Given the description of an element on the screen output the (x, y) to click on. 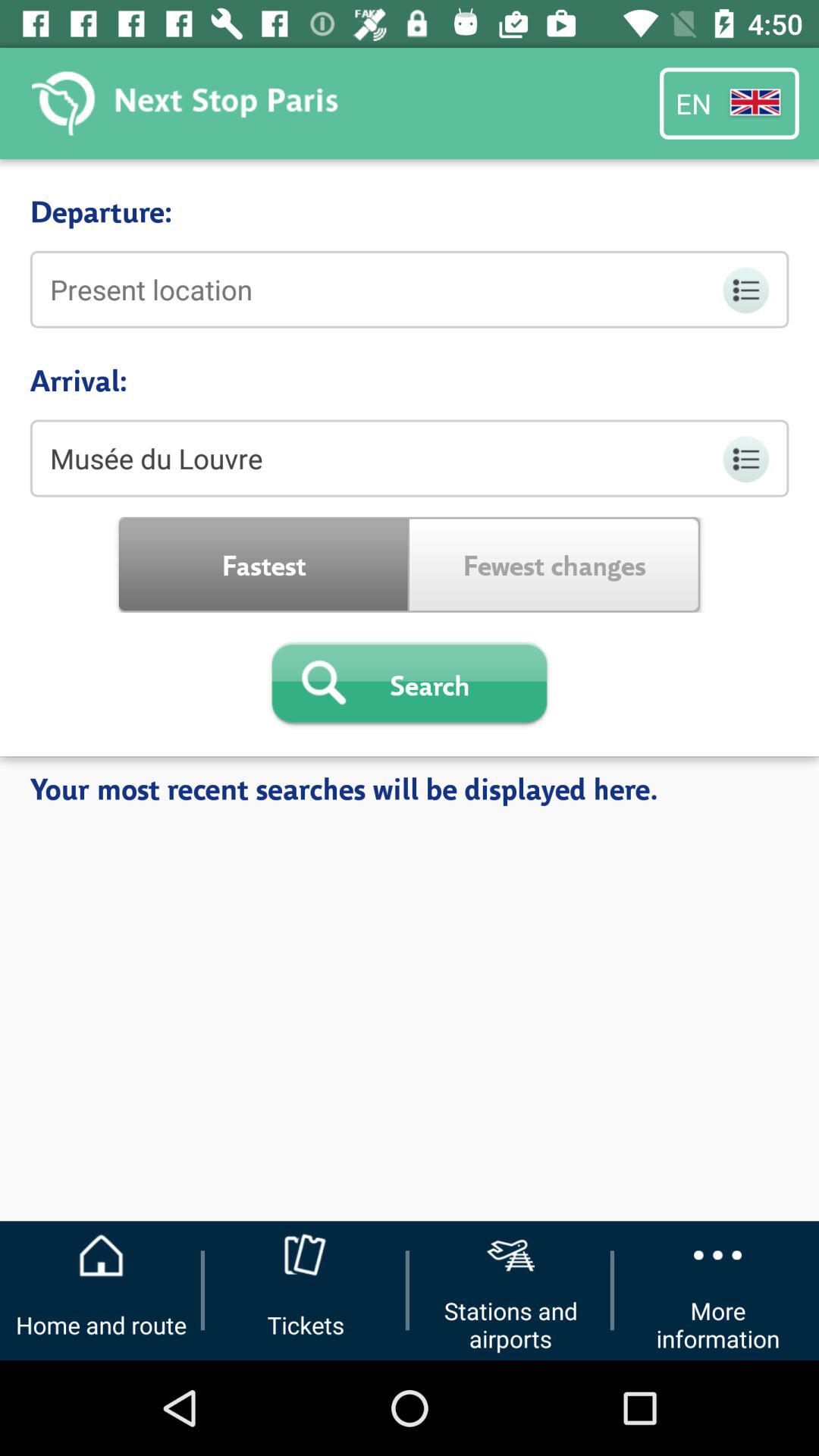
choose the item next to the fewest changes item (263, 564)
